Given the description of an element on the screen output the (x, y) to click on. 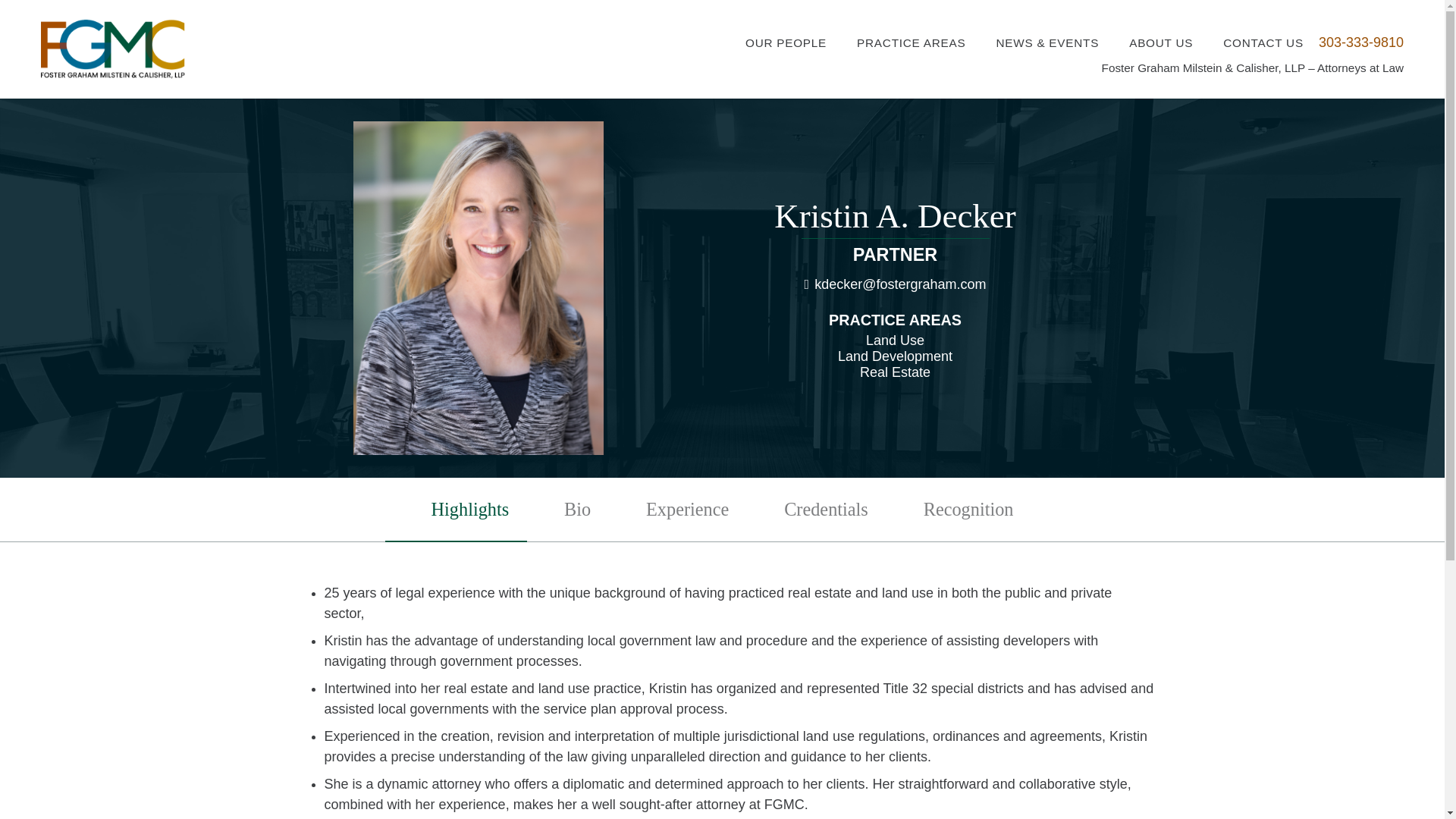
PRACTICE AREAS (925, 43)
Credentials (826, 509)
303-333-9810 (1361, 42)
Highlights (469, 509)
Experience (687, 509)
Recognition (968, 509)
Bio (577, 509)
OUR PEOPLE (820, 43)
ABOUT US (1160, 43)
